Given the description of an element on the screen output the (x, y) to click on. 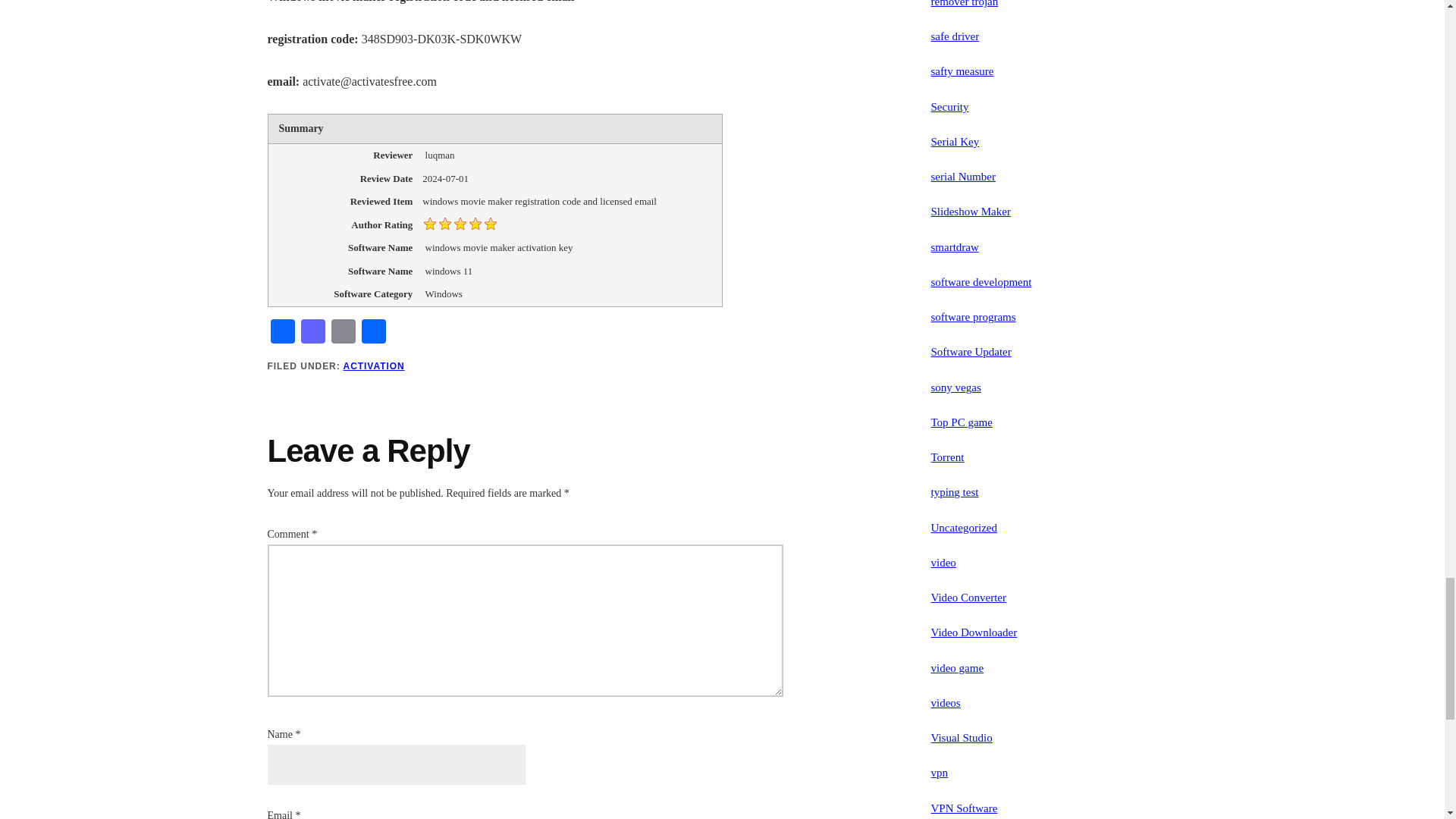
Facebook (281, 333)
Email (342, 333)
Email (342, 333)
Mastodon (312, 333)
Share (373, 333)
Facebook (281, 333)
Mastodon (312, 333)
ACTIVATION (373, 366)
